Given the description of an element on the screen output the (x, y) to click on. 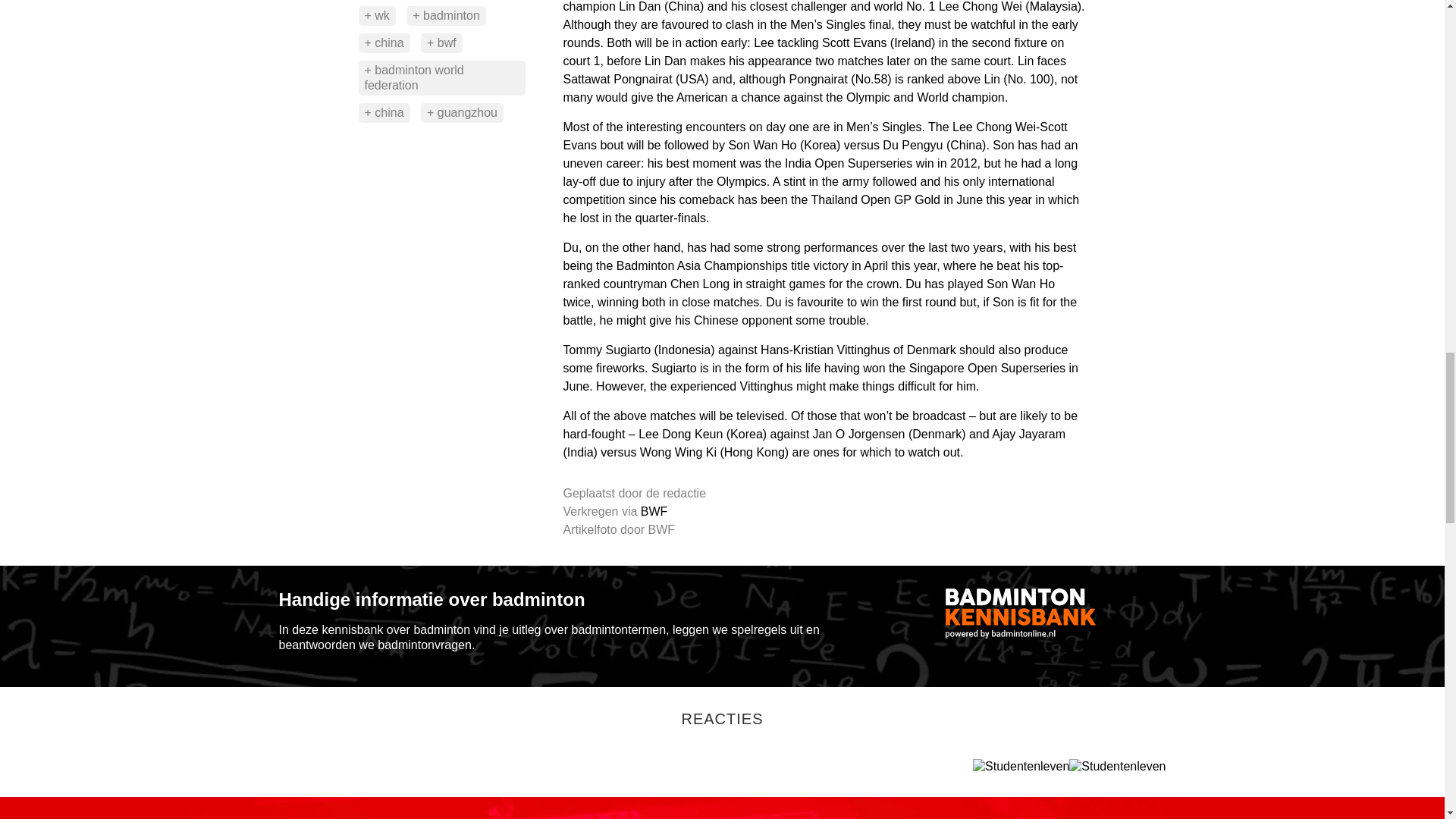
BWF (654, 511)
